Given the description of an element on the screen output the (x, y) to click on. 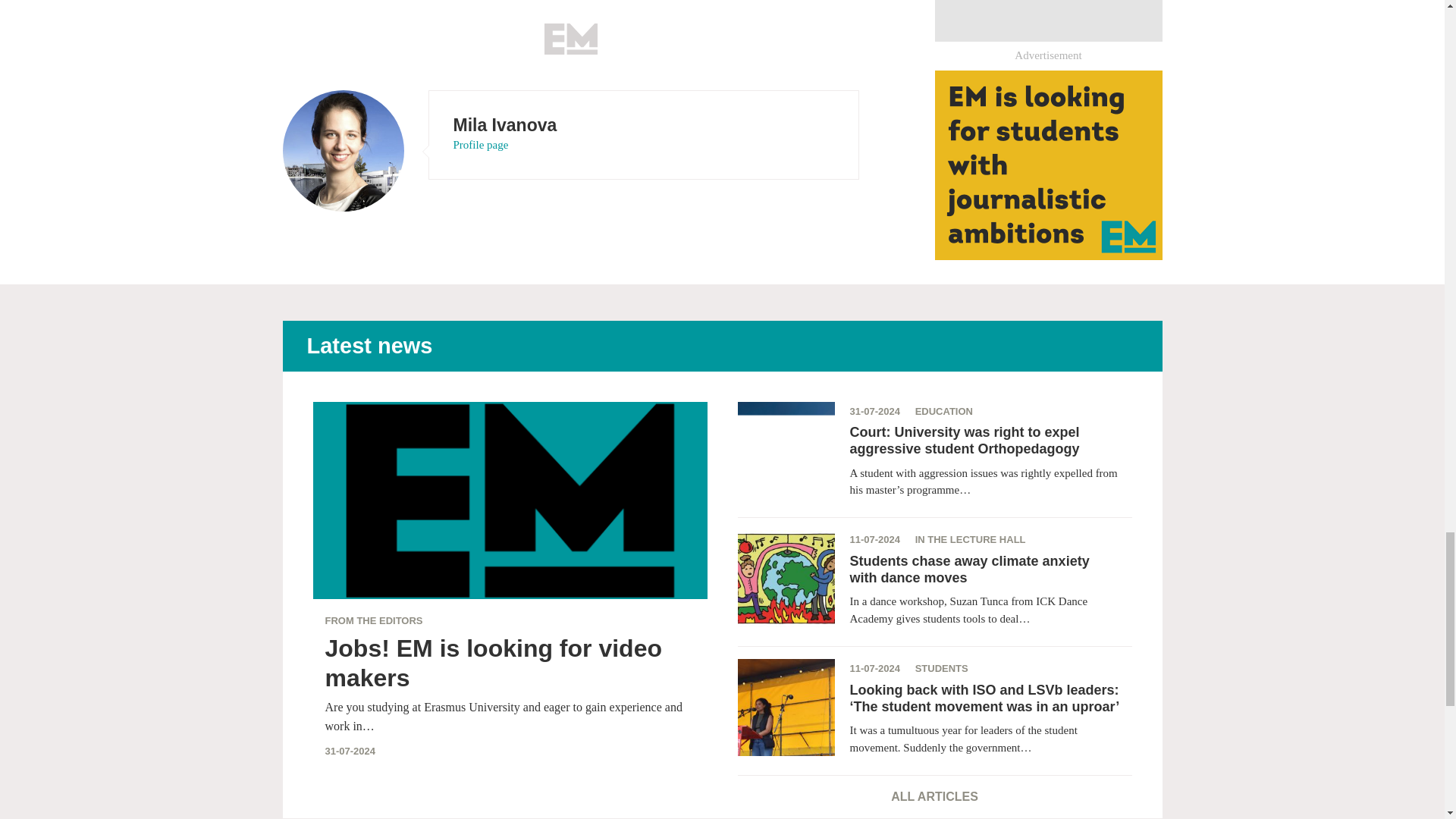
ALL ARTICLES (934, 796)
Profile page (480, 144)
